Given the description of an element on the screen output the (x, y) to click on. 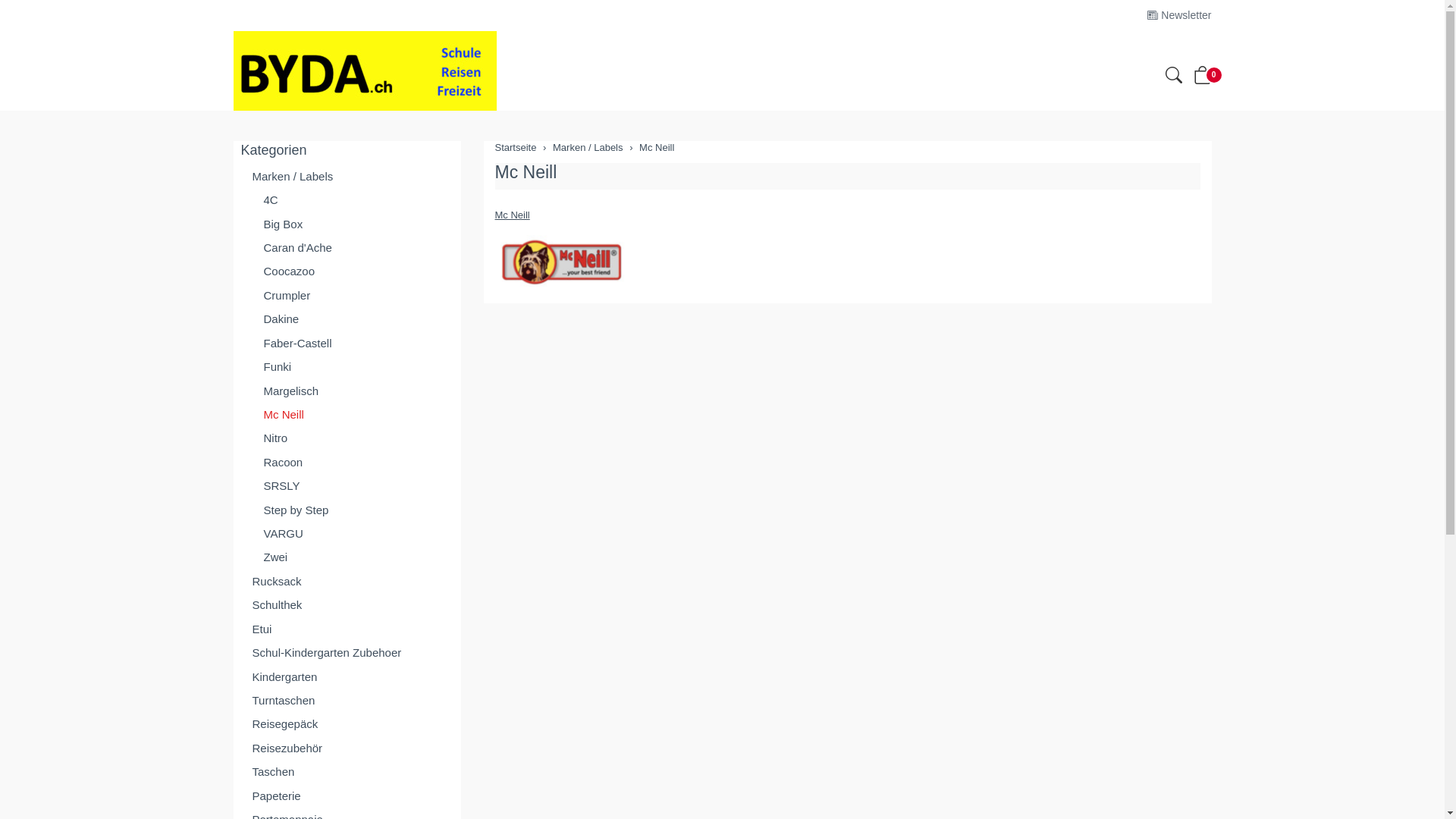
Mc Neill Element type: text (347, 414)
SRSLY Element type: text (347, 485)
Rucksack Element type: text (347, 581)
4C Element type: text (347, 199)
Mc Neill Element type: text (656, 147)
Etui Element type: text (347, 628)
Coocazoo Element type: text (347, 270)
Mc Neill Element type: text (511, 214)
Papeterie Element type: text (347, 795)
Schul-Kindergarten Zubehoer Element type: text (347, 652)
Startseite Element type: text (515, 147)
Suche Element type: hover (1172, 77)
Turntaschen Element type: text (347, 700)
Racoon Element type: text (347, 461)
Funki Element type: text (347, 366)
VARGU Element type: text (347, 533)
Kindergarten Element type: text (347, 676)
Dakine Element type: text (347, 318)
Step by Step Element type: text (347, 509)
Newsletter Element type: text (1179, 15)
0 Element type: text (1202, 78)
Faber-Castell Element type: text (347, 342)
Big Box Element type: text (347, 223)
Crumpler Element type: text (347, 295)
Caran d'Ache Element type: text (347, 247)
Schulthek Element type: text (347, 604)
Margelisch Element type: text (347, 390)
Zwei Element type: text (347, 556)
Taschen Element type: text (347, 771)
Nitro Element type: text (347, 437)
Marken / Labels Element type: text (347, 176)
Mc Neill Element type: text (525, 172)
Marken / Labels Element type: text (587, 147)
